Given the description of an element on the screen output the (x, y) to click on. 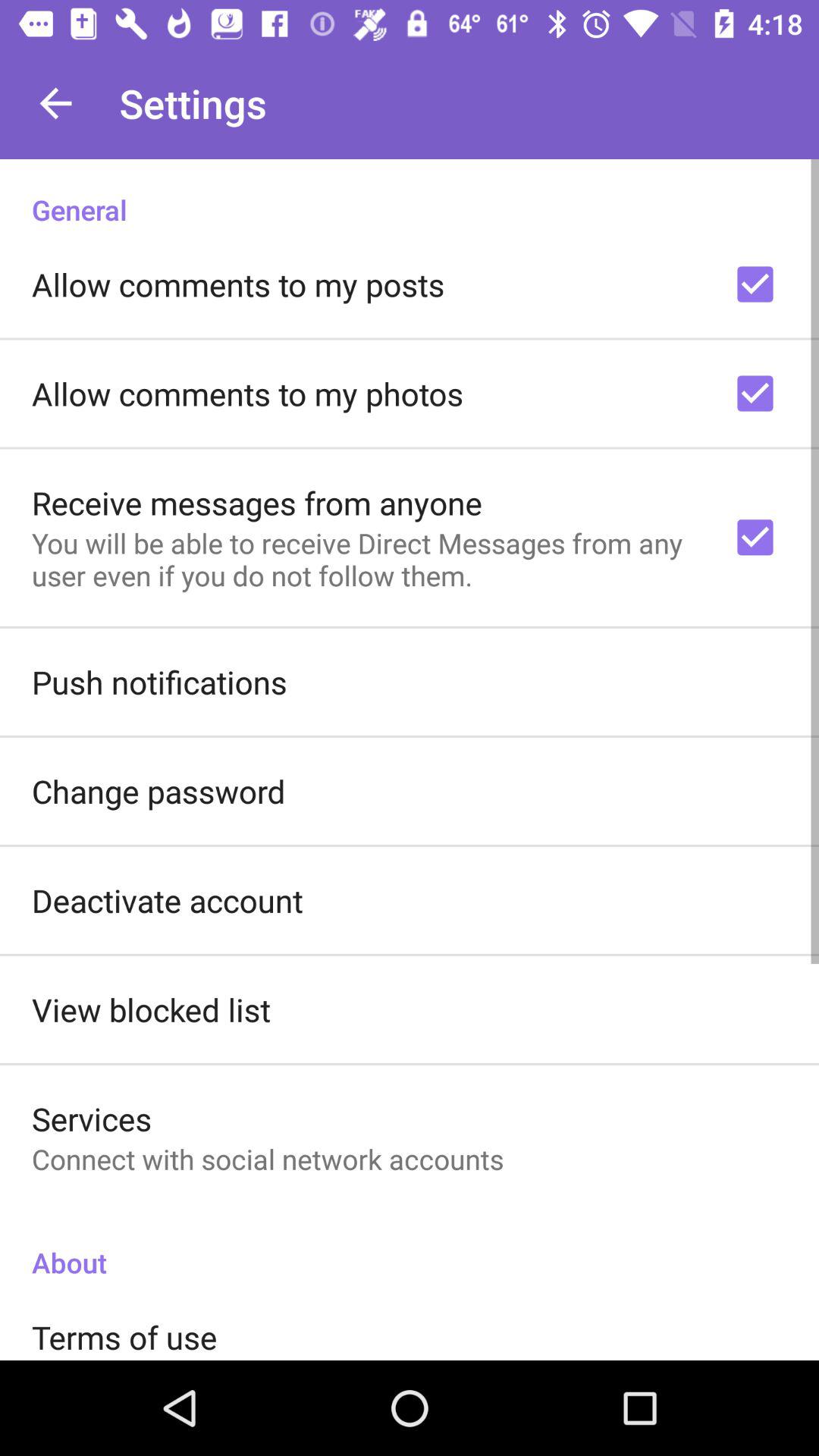
turn on item above terms of use item (409, 1246)
